Given the description of an element on the screen output the (x, y) to click on. 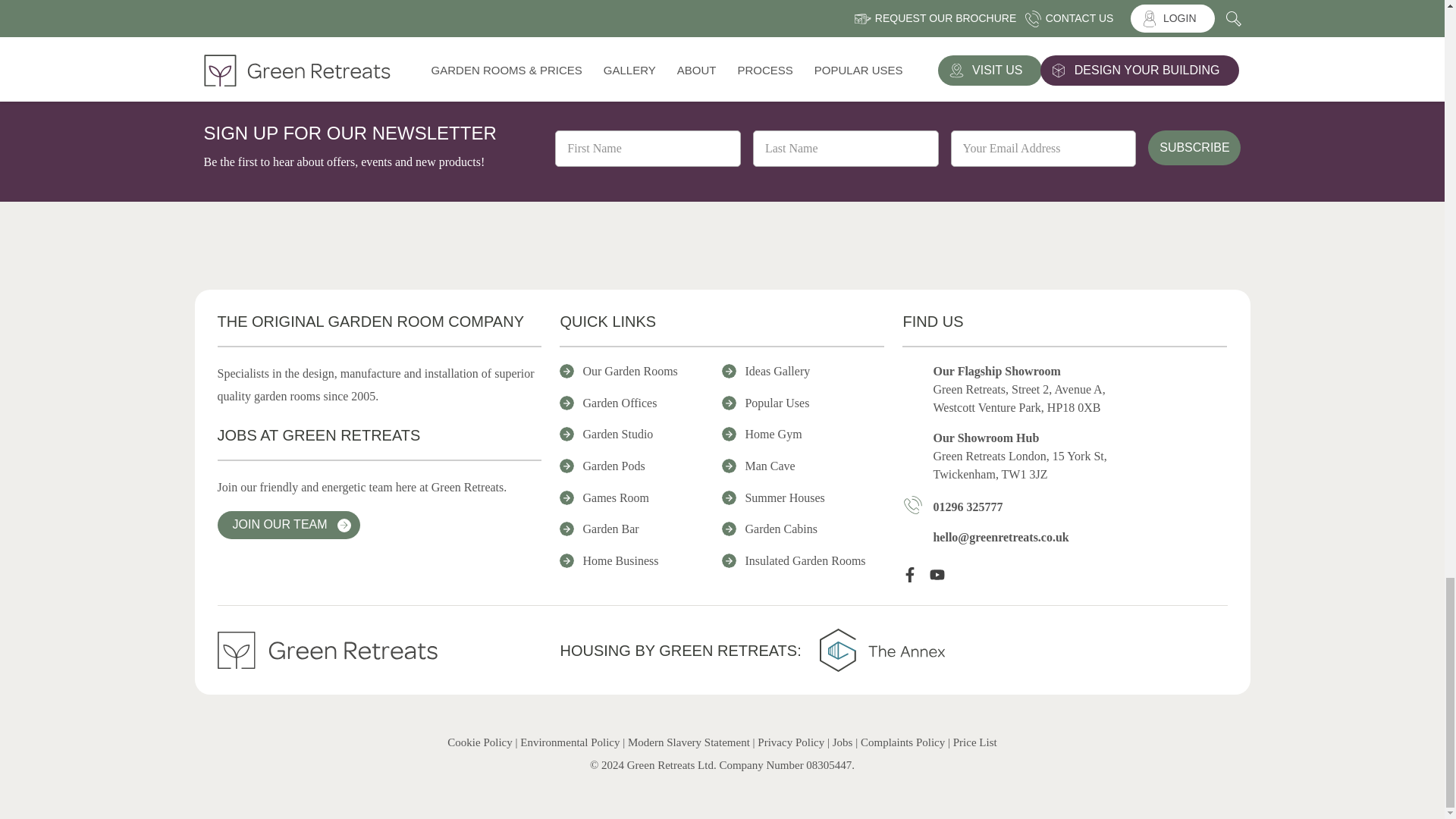
Subscribe (1194, 147)
